Given the description of an element on the screen output the (x, y) to click on. 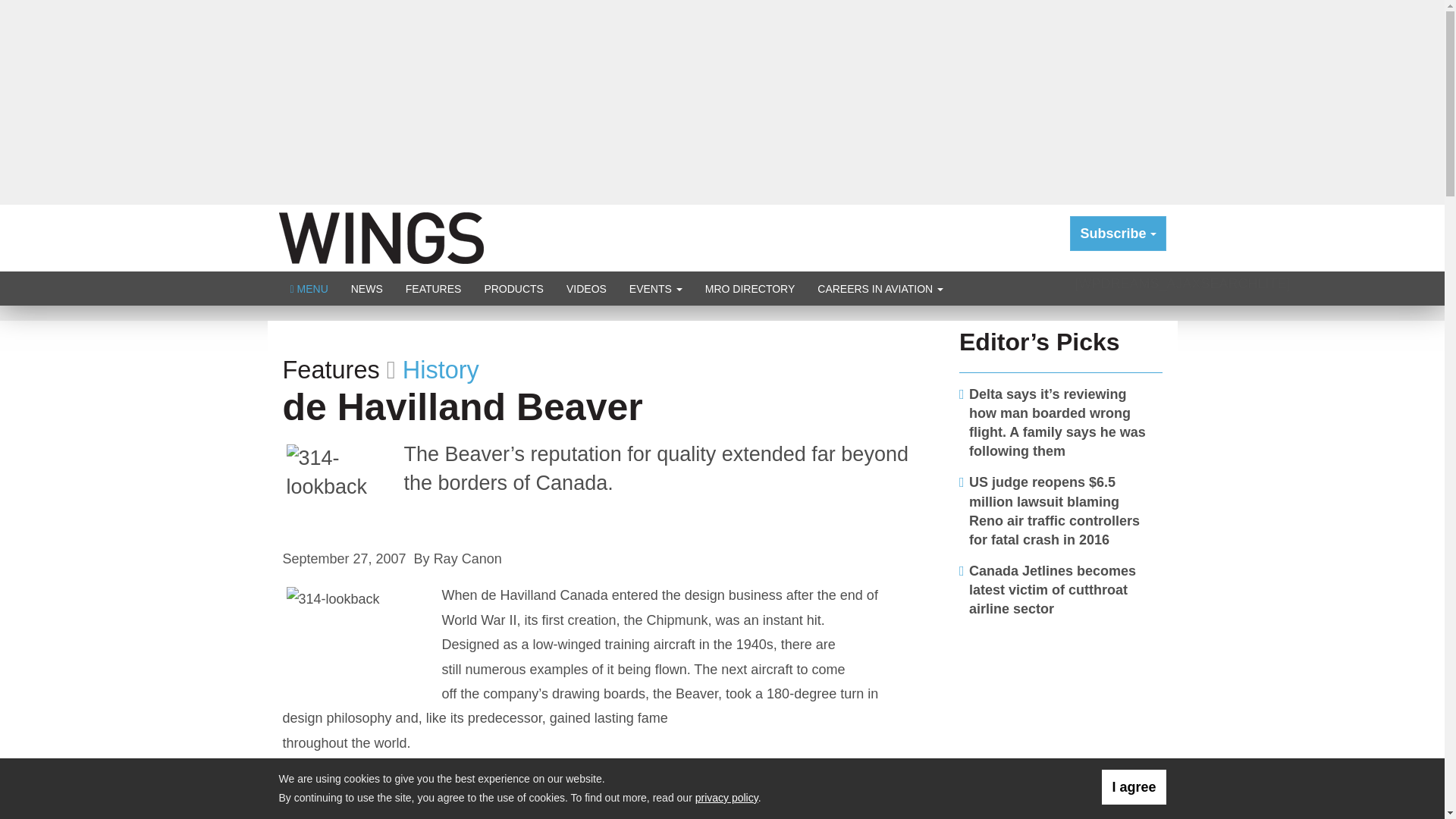
EVENTS (655, 288)
Subscribe (1118, 233)
3rd party ad content (1060, 725)
FEATURES (433, 288)
Wings Magazine (381, 237)
NEWS (366, 288)
VIDEOS (585, 288)
CAREERS IN AVIATION (880, 288)
Click to show site navigation (309, 288)
